Given the description of an element on the screen output the (x, y) to click on. 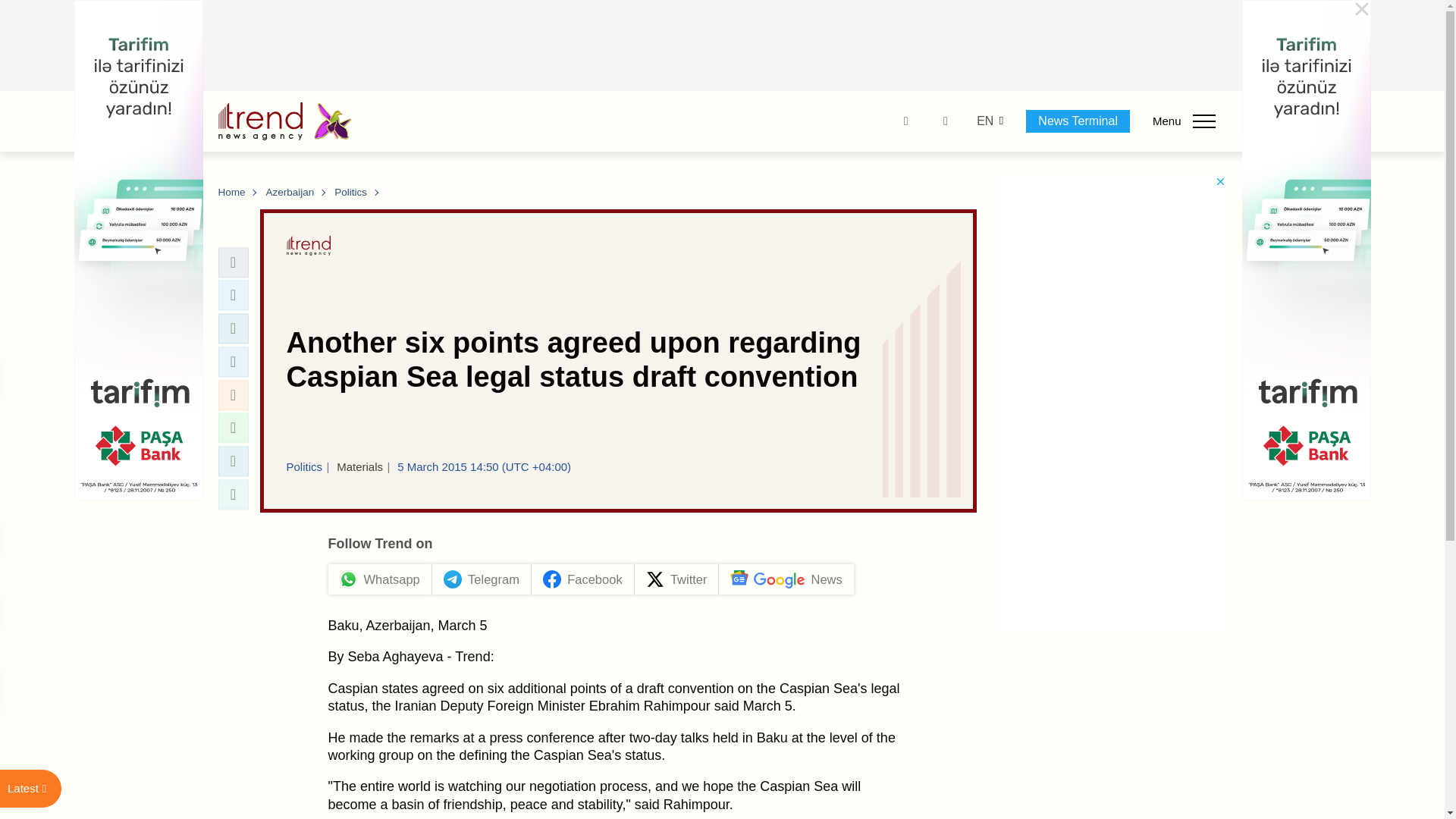
News Terminal (1077, 120)
English (984, 121)
EN (984, 121)
3rd party ad content (722, 45)
3rd party ad content (1112, 402)
